Given the description of an element on the screen output the (x, y) to click on. 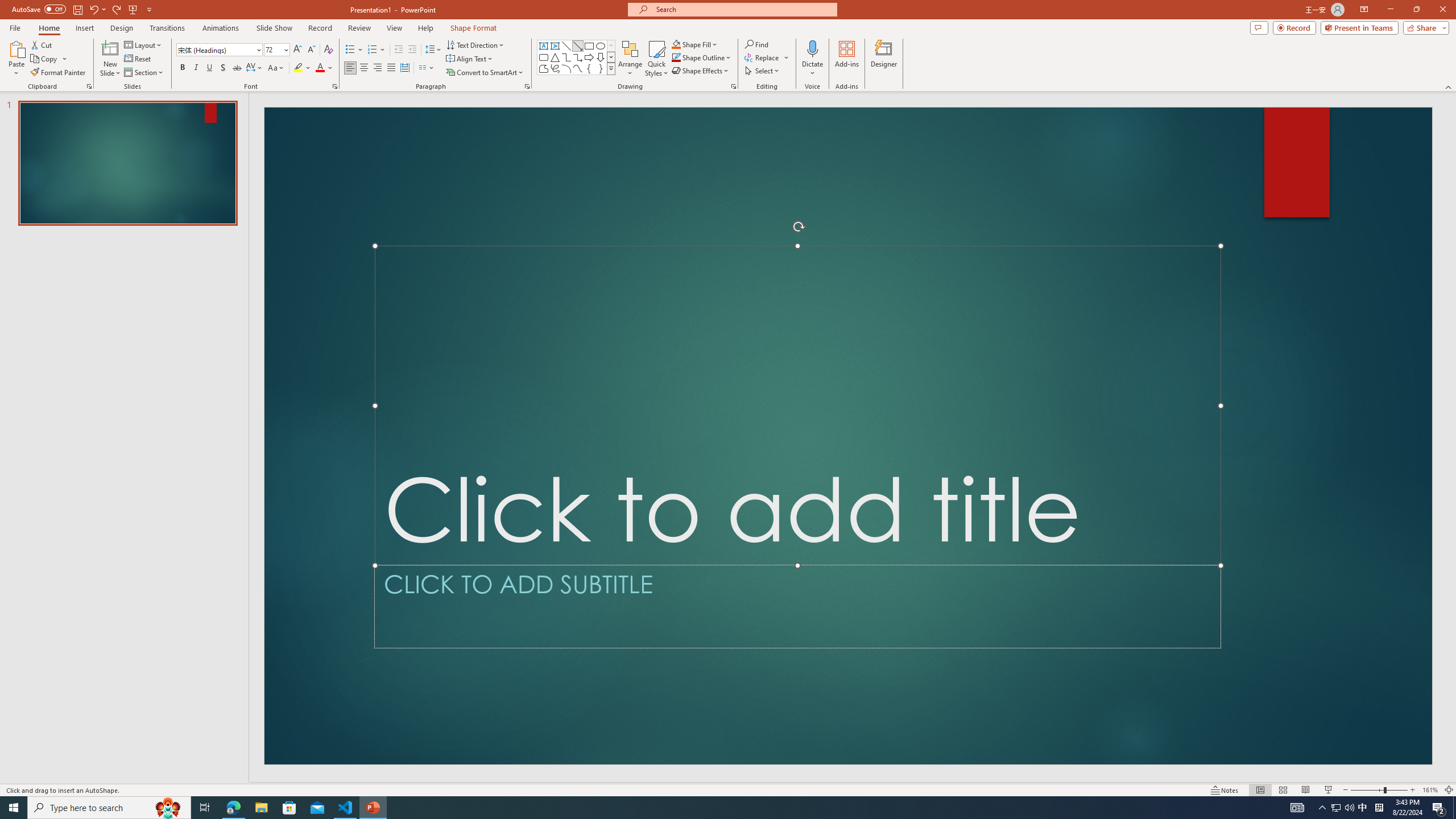
Align Text (470, 58)
Curve (577, 68)
Shape Outline Blue, Accent 1 (675, 56)
Character Spacing (254, 67)
Office Clipboard... (88, 85)
Open (285, 49)
Shape Fill (694, 44)
Section (144, 72)
Shape Format (473, 28)
